Given the description of an element on the screen output the (x, y) to click on. 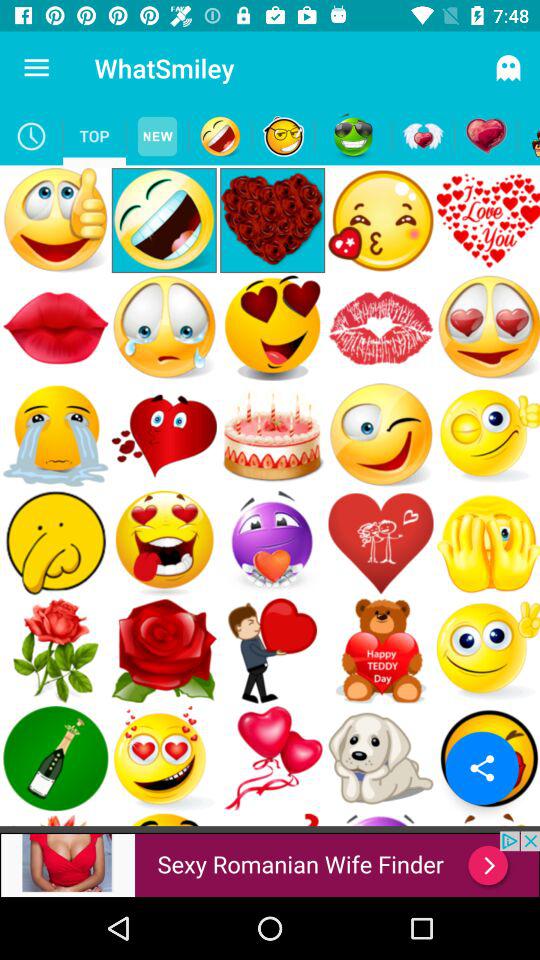
advertisement (270, 864)
